Given the description of an element on the screen output the (x, y) to click on. 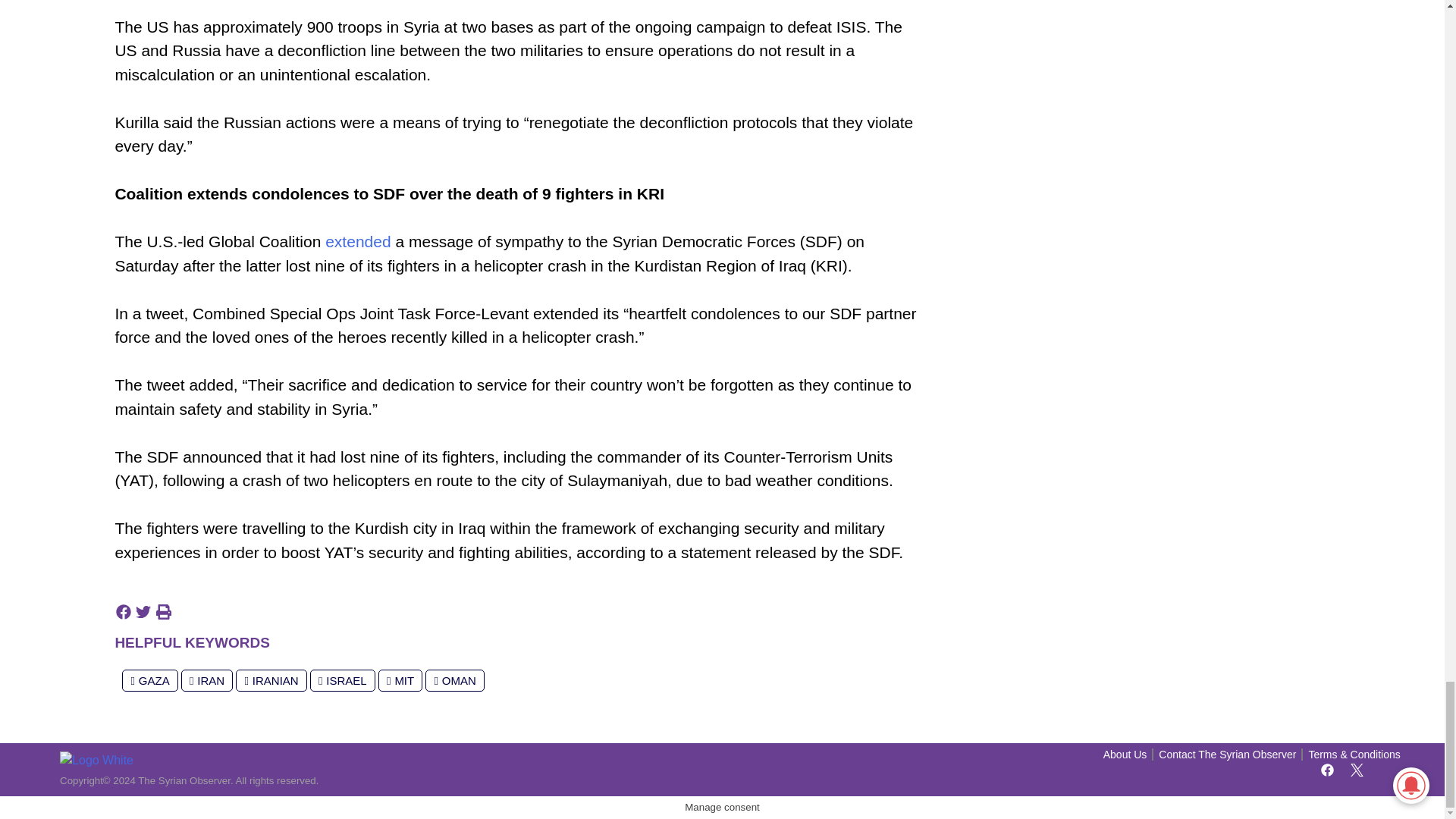
GAZA (149, 680)
ISRAEL (342, 680)
IRAN (206, 680)
OMAN (454, 680)
MIT (400, 680)
extended (357, 241)
IRANIAN (270, 680)
